Given the description of an element on the screen output the (x, y) to click on. 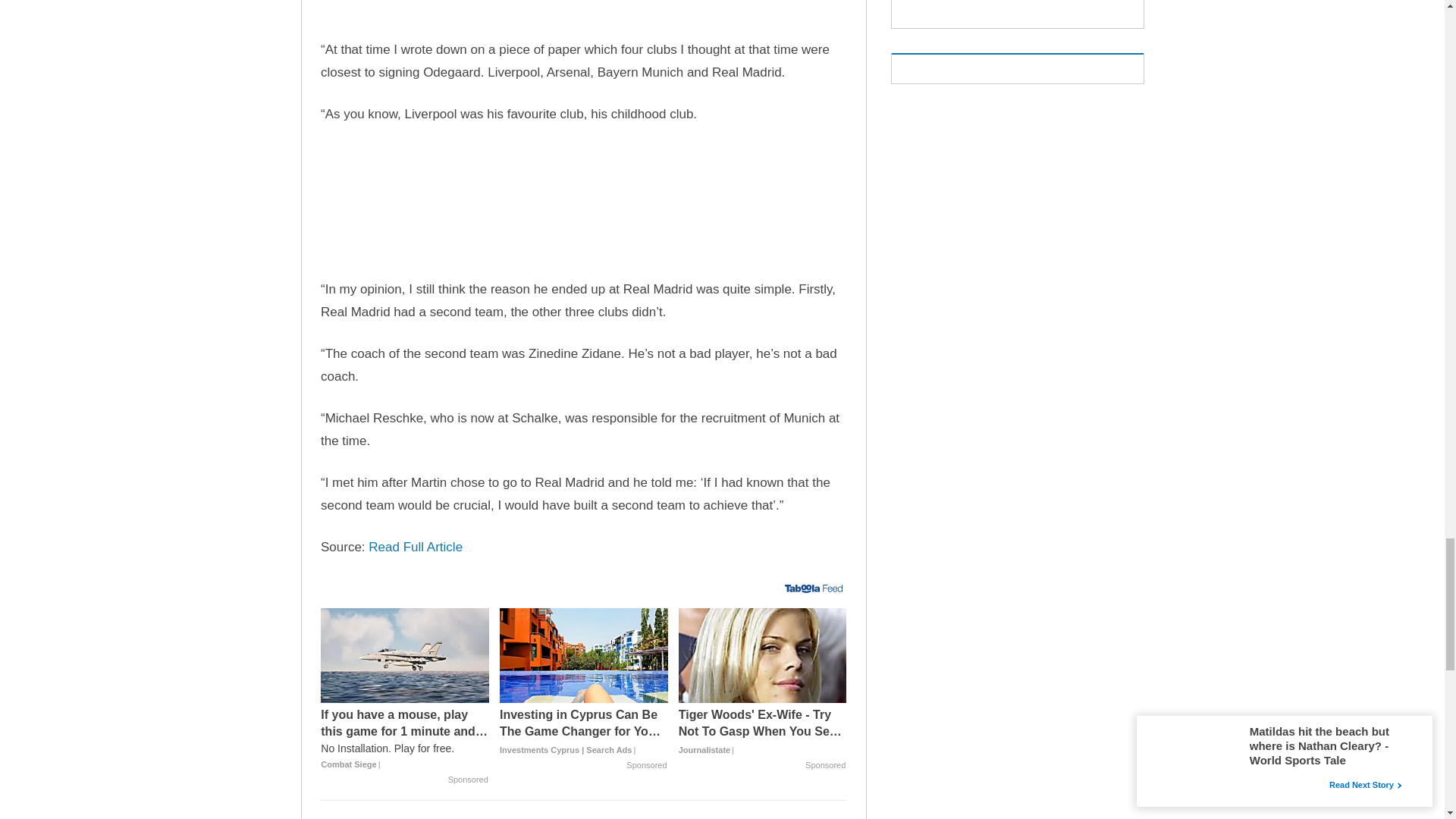
"Description: No Installation. Play for free." (404, 748)
Sponsored (467, 779)
Read Full Article (415, 546)
Tiger Woods' Ex-Wife - Try Not To Gasp When You See Her Now (762, 655)
